Given the description of an element on the screen output the (x, y) to click on. 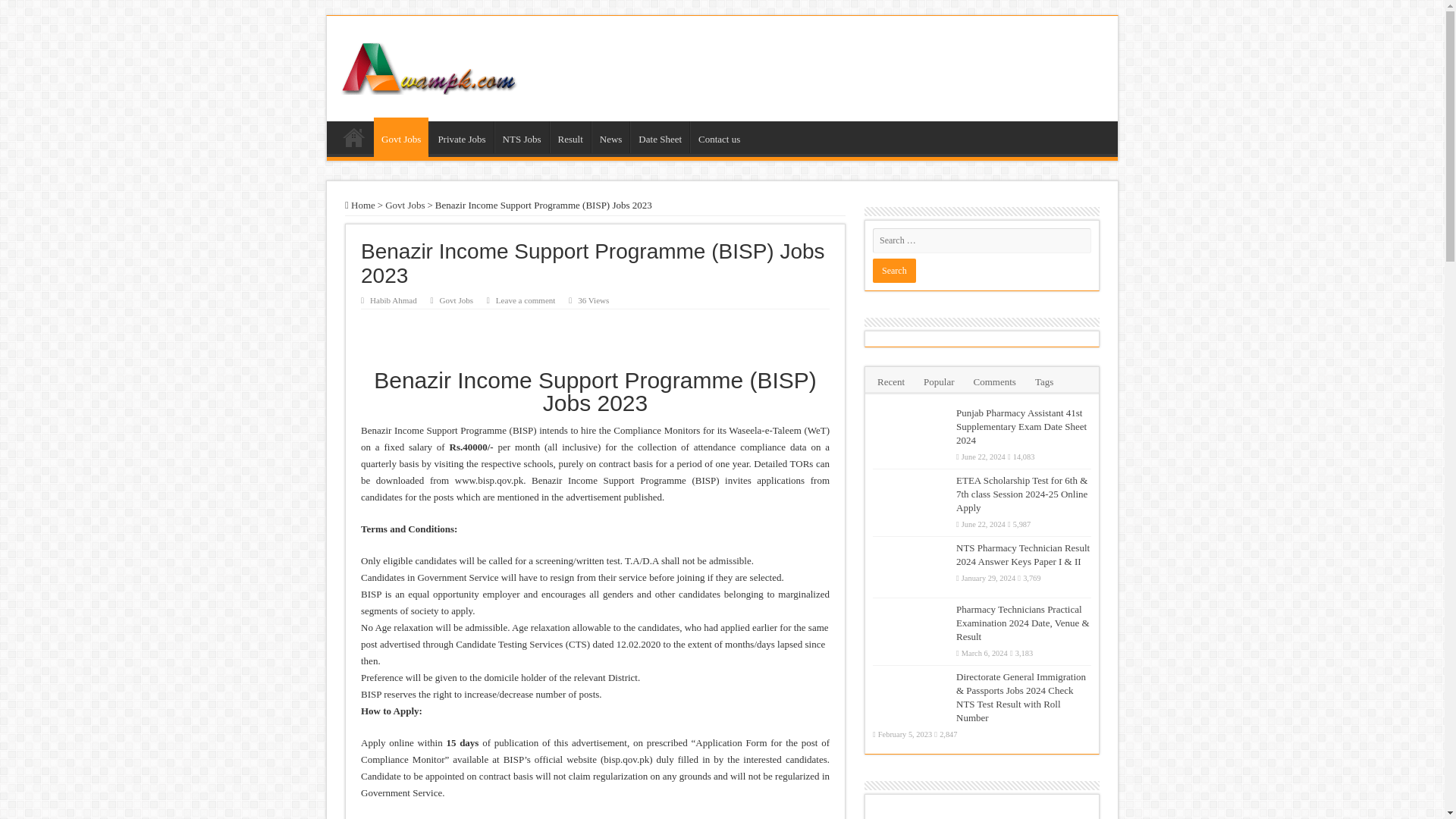
Date Sheet (659, 137)
Leave a comment (526, 299)
Latest NTS Jobs Online (428, 65)
Private Jobs (461, 137)
NTS Jobs (521, 137)
Govt Jobs (456, 299)
Govt Jobs (405, 204)
Result (570, 137)
Home (360, 204)
Habib Ahmad (392, 299)
Tags (1043, 379)
Govt Jobs (401, 137)
News (610, 137)
Comments (994, 379)
Search (893, 270)
